Given the description of an element on the screen output the (x, y) to click on. 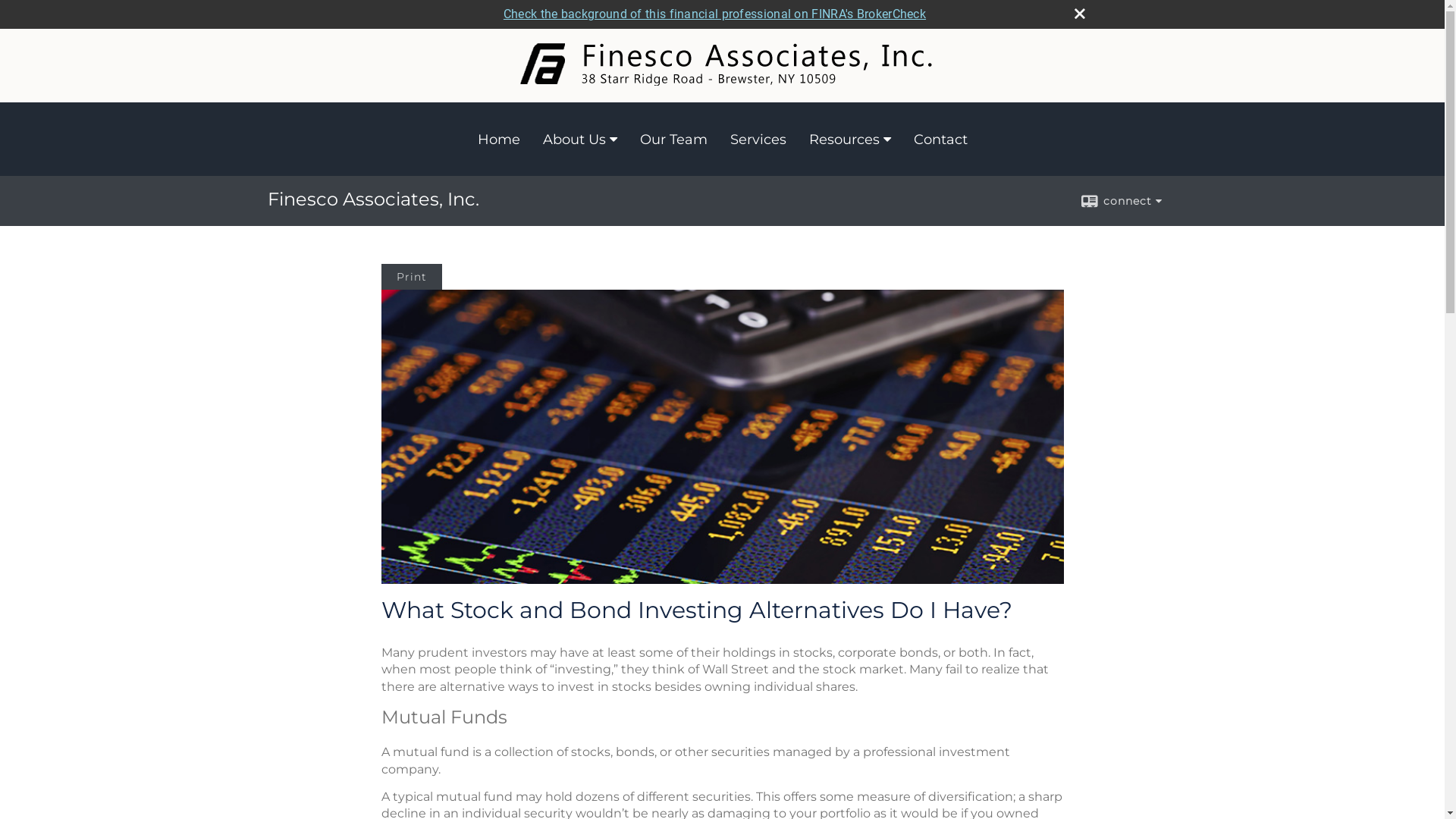
Print Element type: text (410, 276)
Our Team Element type: text (672, 139)
connect Element type: text (1120, 200)
Home Element type: text (497, 139)
Contact Element type: text (940, 139)
Services Element type: text (757, 139)
About Us Element type: text (578, 139)
Resources Element type: text (849, 139)
